Given the description of an element on the screen output the (x, y) to click on. 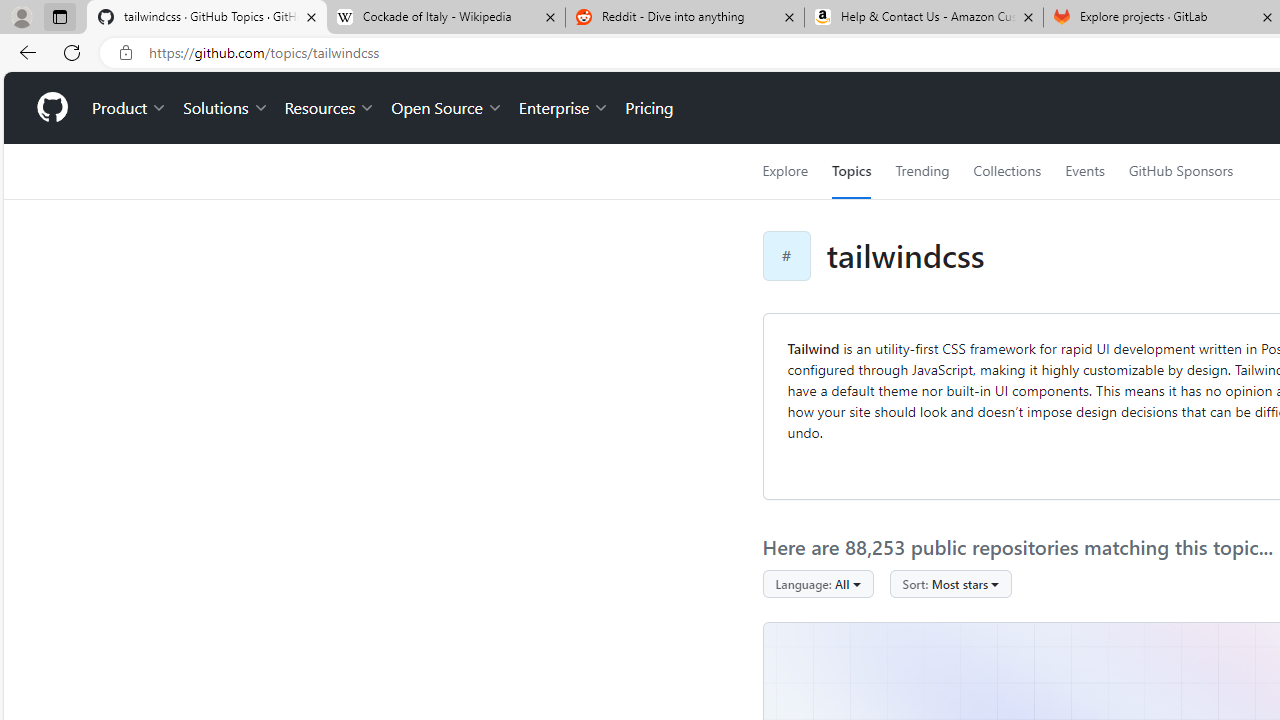
Pricing (649, 107)
Enterprise (563, 107)
Enterprise (563, 107)
Open Source (446, 107)
Trending (921, 171)
Solutions (225, 107)
Product (130, 107)
Topics (851, 171)
Events (1084, 171)
Pricing (649, 107)
GitHub Sponsors (1180, 171)
